Given the description of an element on the screen output the (x, y) to click on. 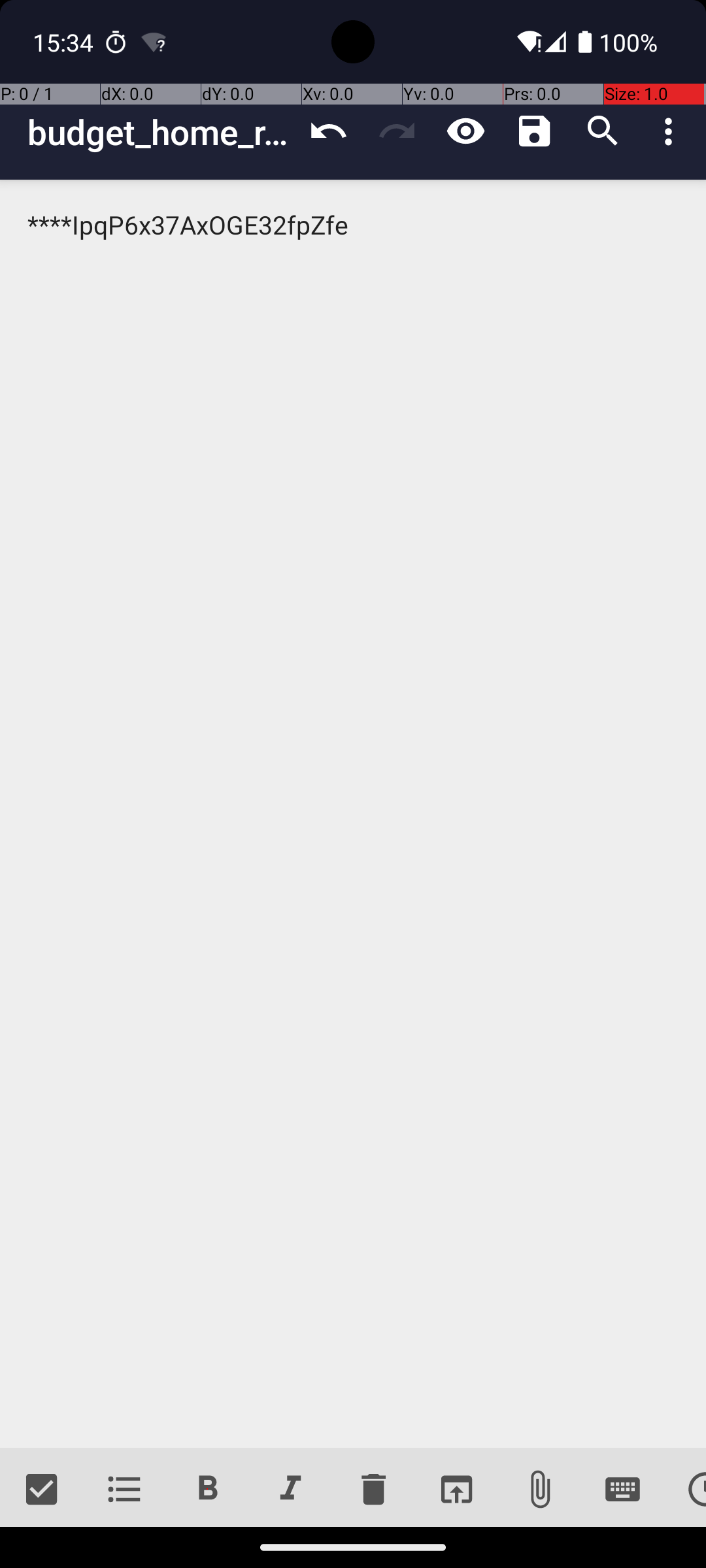
budget_home_renovation_copy Element type: android.widget.TextView (160, 131)
****IpqP6x37AxOGE32fpZfe
 Element type: android.widget.EditText (353, 813)
